Given the description of an element on the screen output the (x, y) to click on. 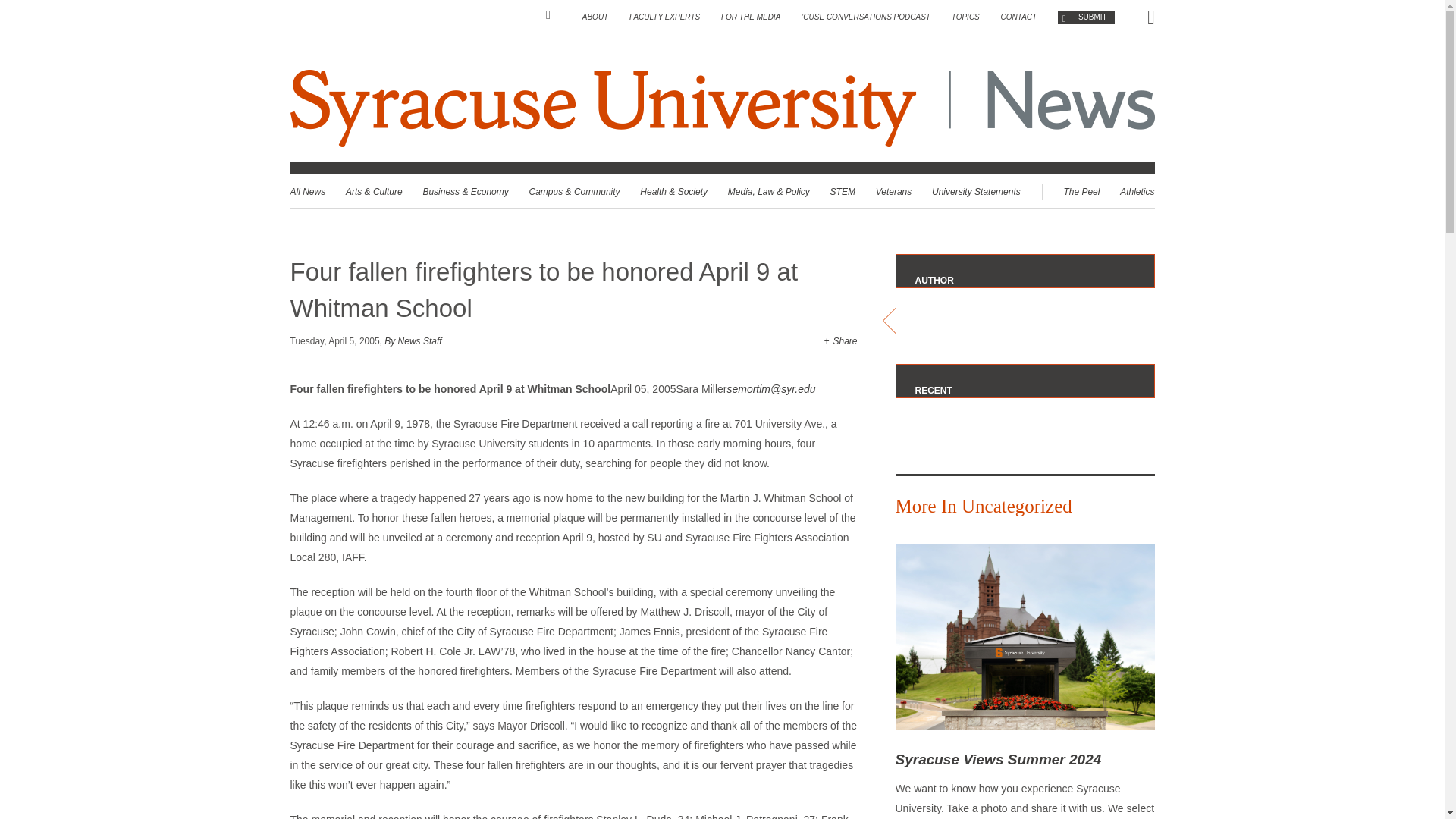
CONTACT (1018, 17)
FOR THE MEDIA (750, 17)
HOME (553, 15)
Submit (1086, 16)
All News (306, 191)
Syracuse University News (721, 108)
Athletics (1136, 191)
Veterans (894, 191)
All News (306, 191)
ABOUT (595, 17)
STEM (842, 191)
The Peel (1080, 191)
Faculty Experts (664, 17)
Syracuse University News (1063, 108)
For The Media (750, 17)
